Given the description of an element on the screen output the (x, y) to click on. 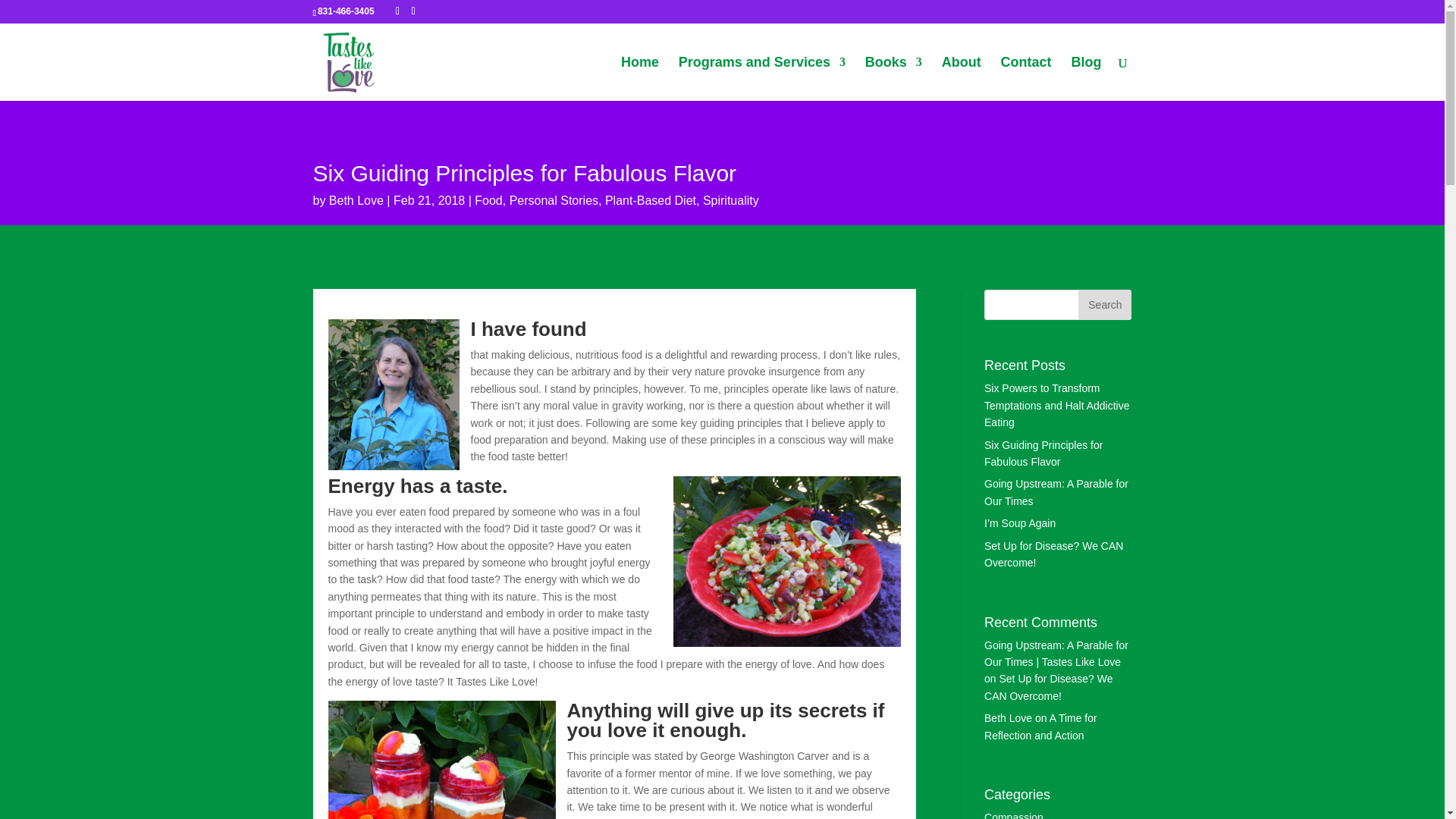
Beth Love (356, 200)
Food (488, 200)
About (961, 78)
Contact (1026, 78)
Books (892, 78)
Posts by Beth Love (356, 200)
Spirituality (730, 200)
Search (1104, 304)
Plant-Based Diet (650, 200)
Programs and Services (761, 78)
Personal Stories (553, 200)
